Given the description of an element on the screen output the (x, y) to click on. 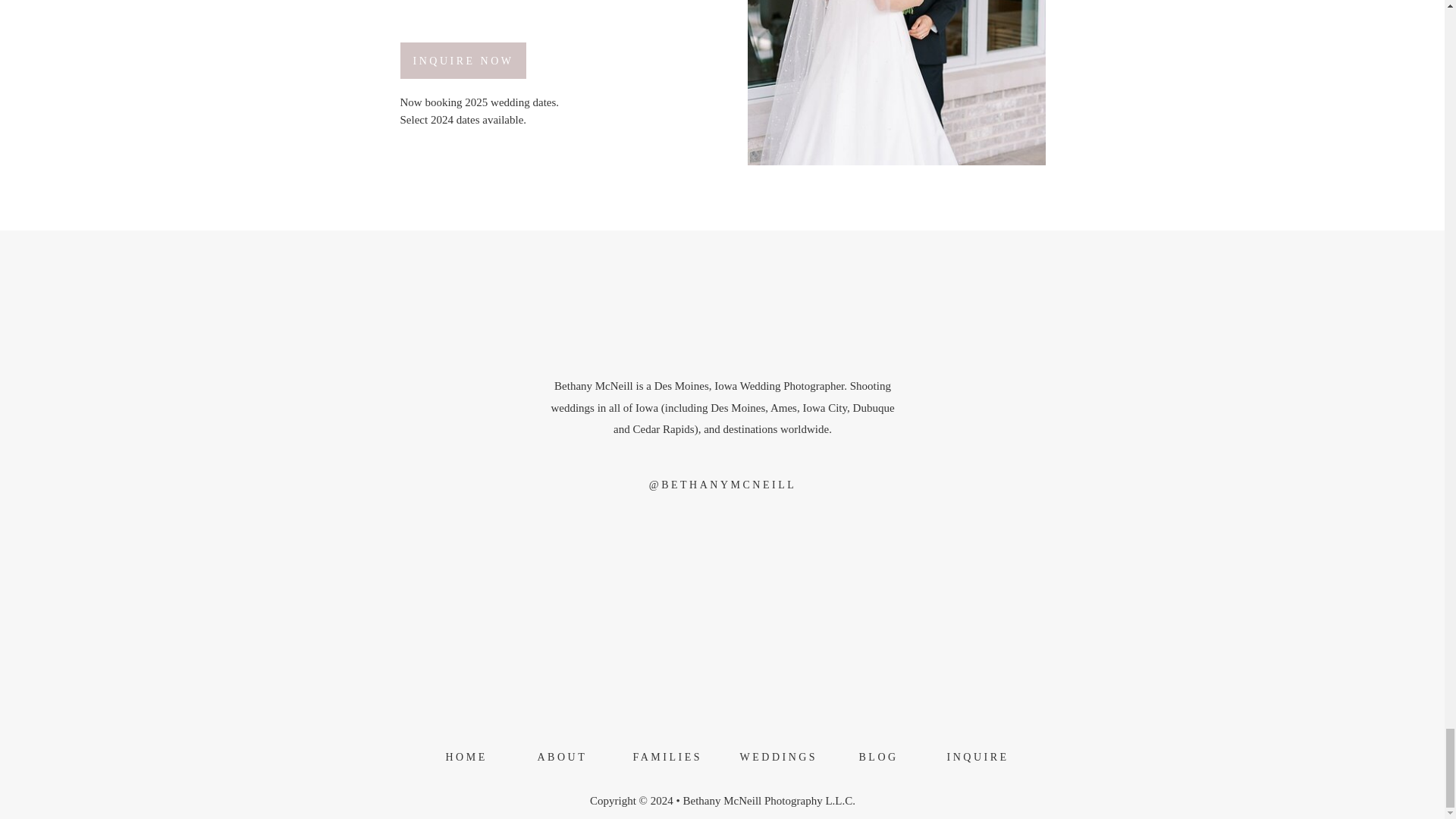
FAMILIES (656, 759)
WEDDINGS (770, 759)
ABOUT (556, 759)
INQUIRE (972, 759)
HOME (462, 759)
INQUIRE NOW (463, 60)
BLOG (874, 759)
